Given the description of an element on the screen output the (x, y) to click on. 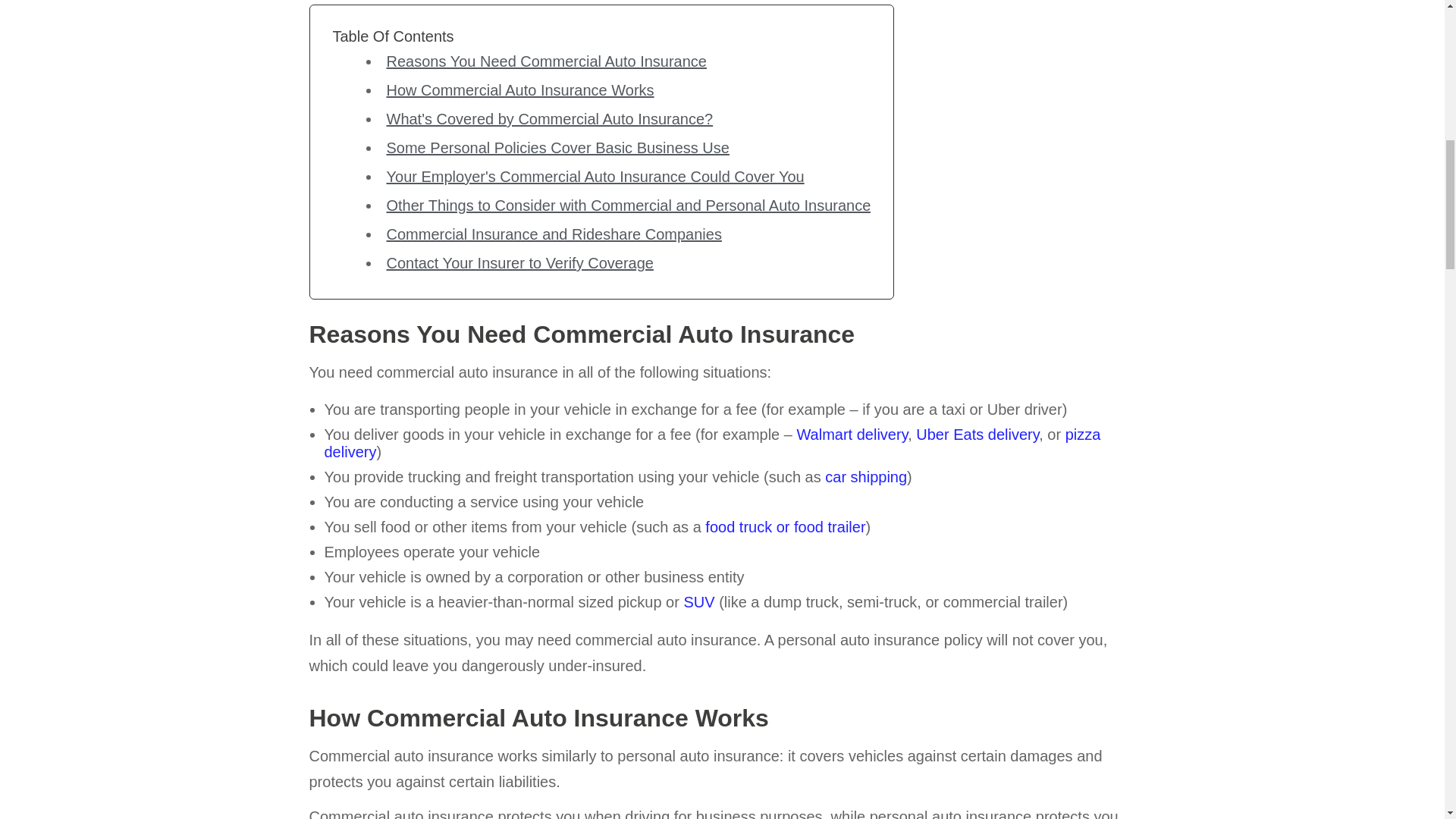
Contact Your Insurer to Verify Coverage (520, 262)
SUV (698, 601)
Some Personal Policies Cover Basic Business Use (558, 147)
pizza delivery (712, 442)
Walmart delivery (851, 434)
food truck or food trailer (784, 526)
Reasons You Need Commercial Auto Insurance (546, 61)
car shipping (866, 476)
Commercial Insurance and Rideshare Companies (554, 234)
